Given the description of an element on the screen output the (x, y) to click on. 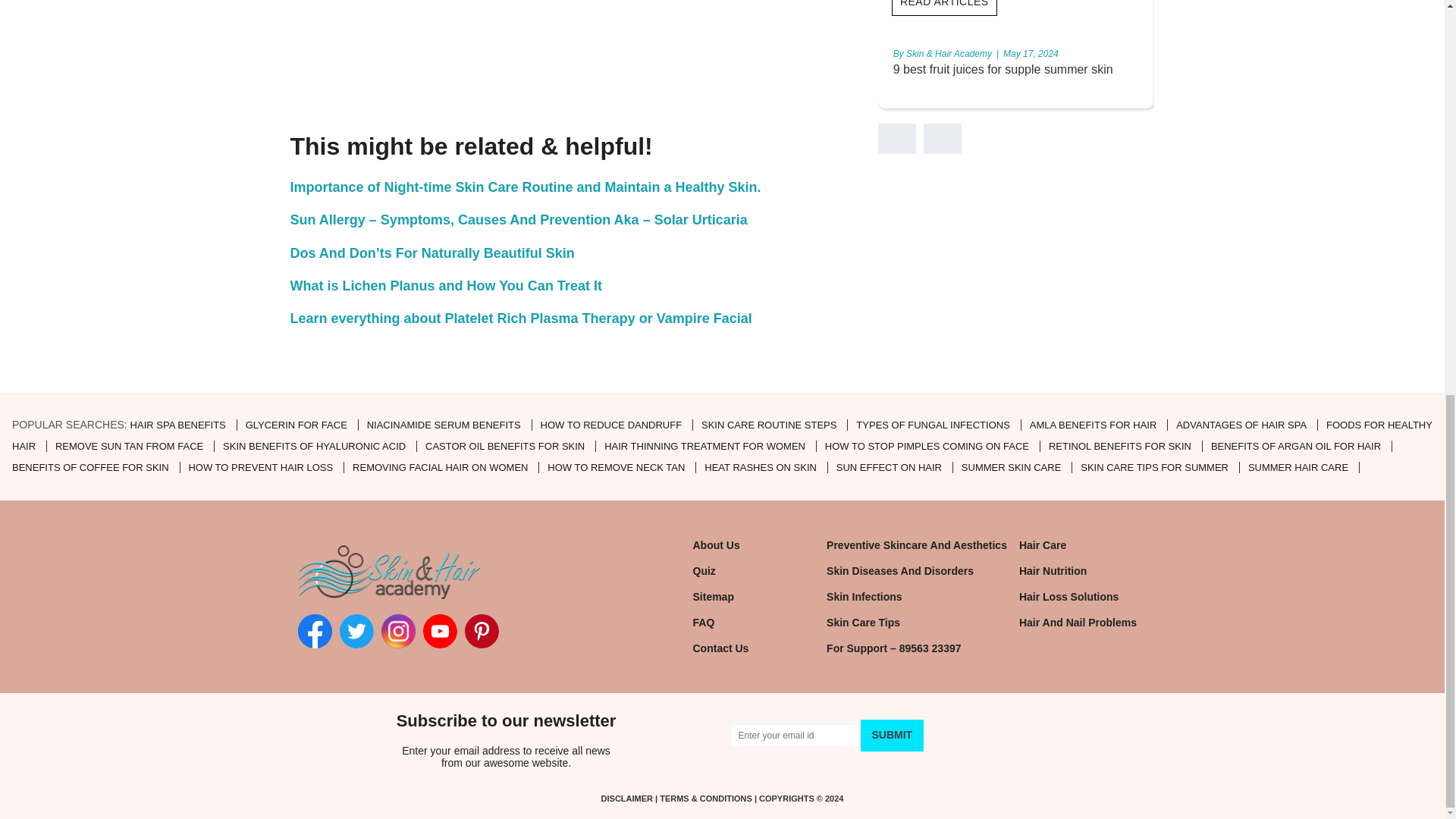
SUBMIT (891, 735)
9 best fruit juices for supple summer skin (1003, 69)
9 best fruit juices for supple summer skin (1003, 69)
Skin Benefits of Rice Water (1242, 69)
